Given the description of an element on the screen output the (x, y) to click on. 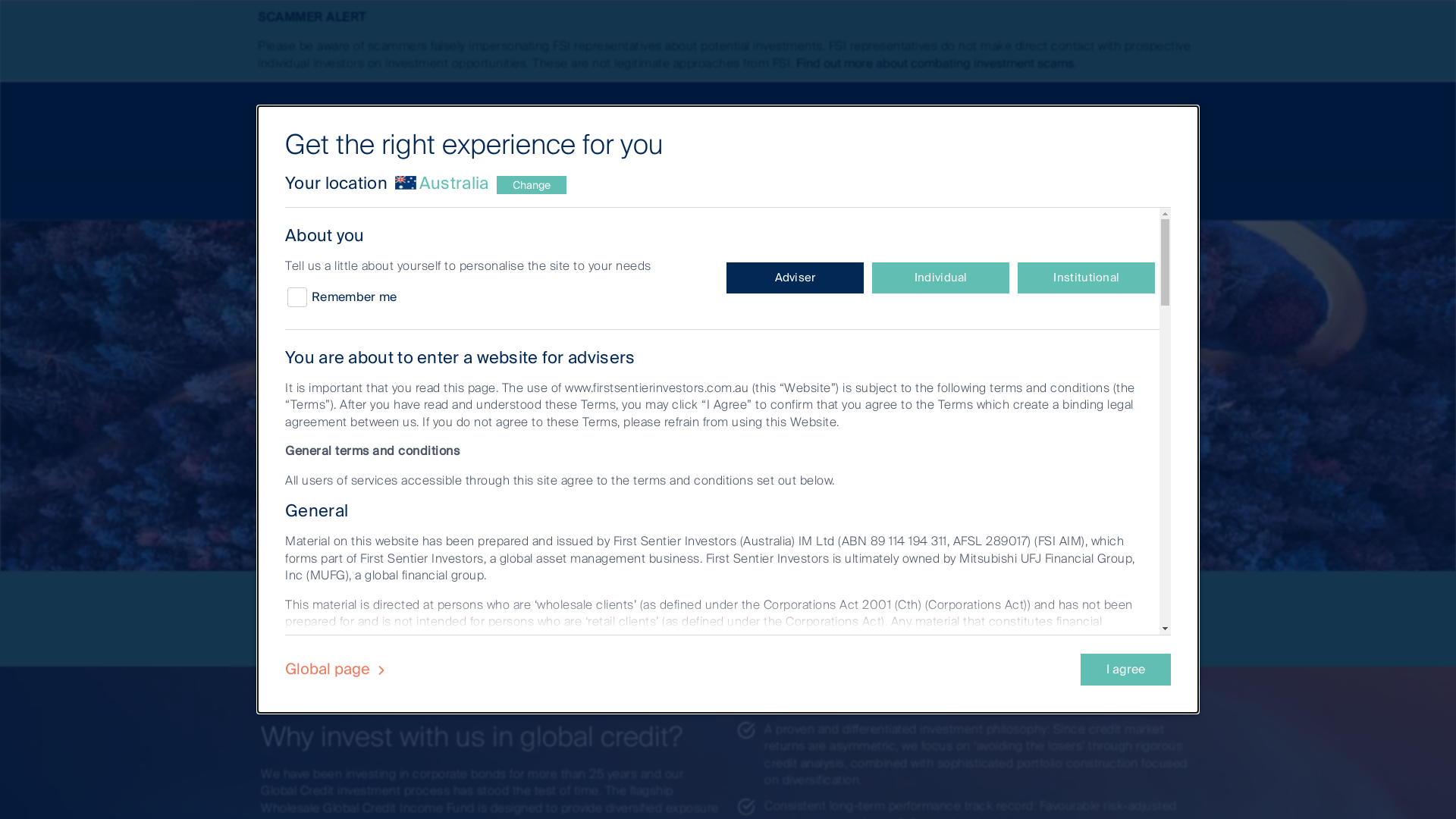
Home Element type: text (291, 197)
Fixed Income Element type: text (382, 247)
Global page Element type: text (338, 668)
Website experience:
Australia
Adviser Element type: text (507, 129)
I agree Element type: text (1125, 669)
Prices & performance Element type: text (727, 604)
Our funds Element type: text (286, 247)
Contact us Element type: text (619, 129)
Invest with us Element type: text (728, 129)
Login Element type: text (1145, 196)
Find out more about combating investment scams Element type: text (934, 63)
Change Element type: text (531, 184)
